Given the description of an element on the screen output the (x, y) to click on. 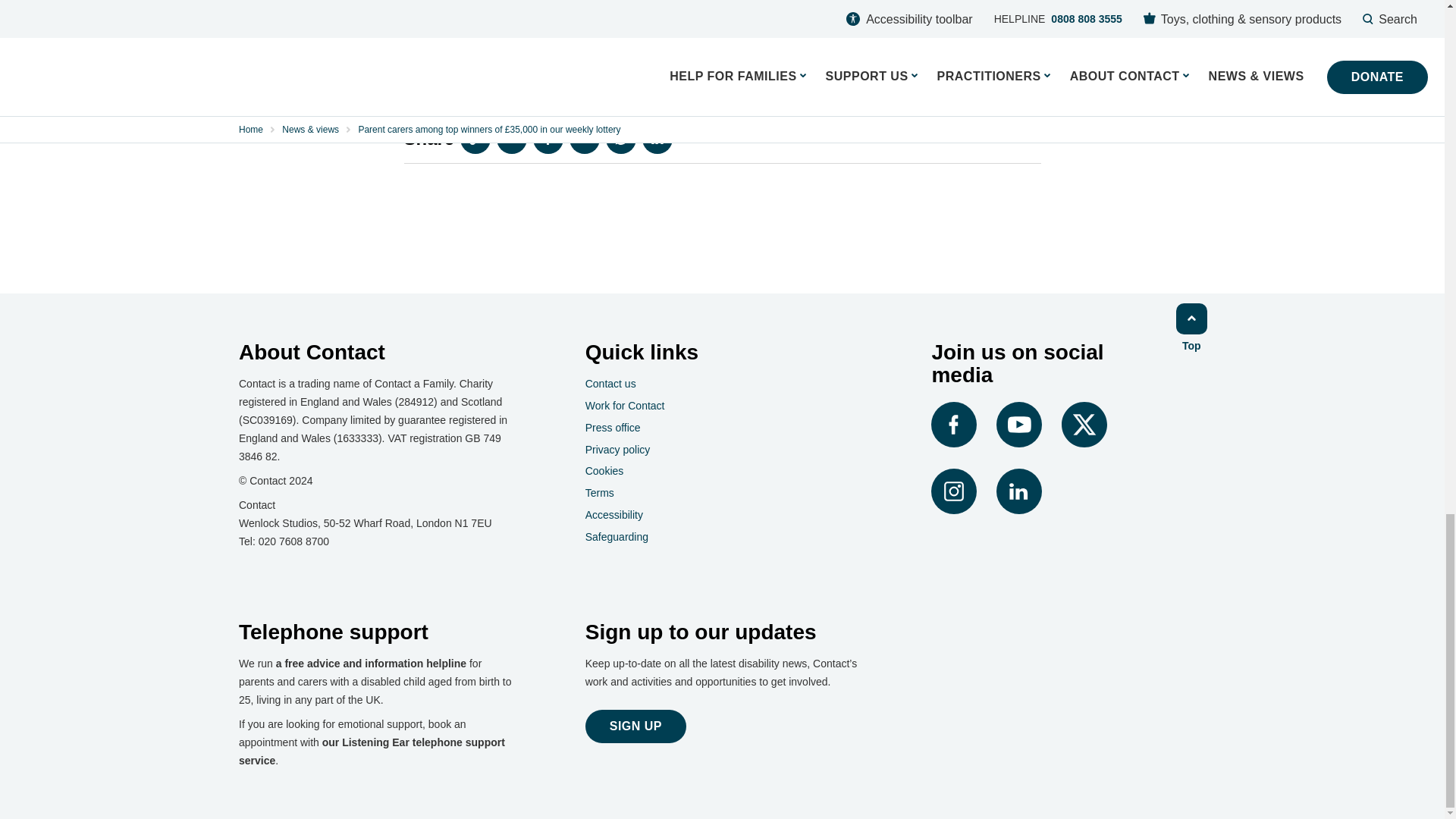
Share via WhatsApp (620, 138)
Copy this URL (475, 138)
Share via Facebook (547, 138)
Join us on Twitter (1133, 424)
Join us on YouTube (1020, 424)
Share via Twitter (584, 138)
Share via Email (511, 138)
Share via LinkedIn (657, 138)
Play the Contact Weekly Lottery (550, 48)
Join us on Facebook (956, 424)
